Given the description of an element on the screen output the (x, y) to click on. 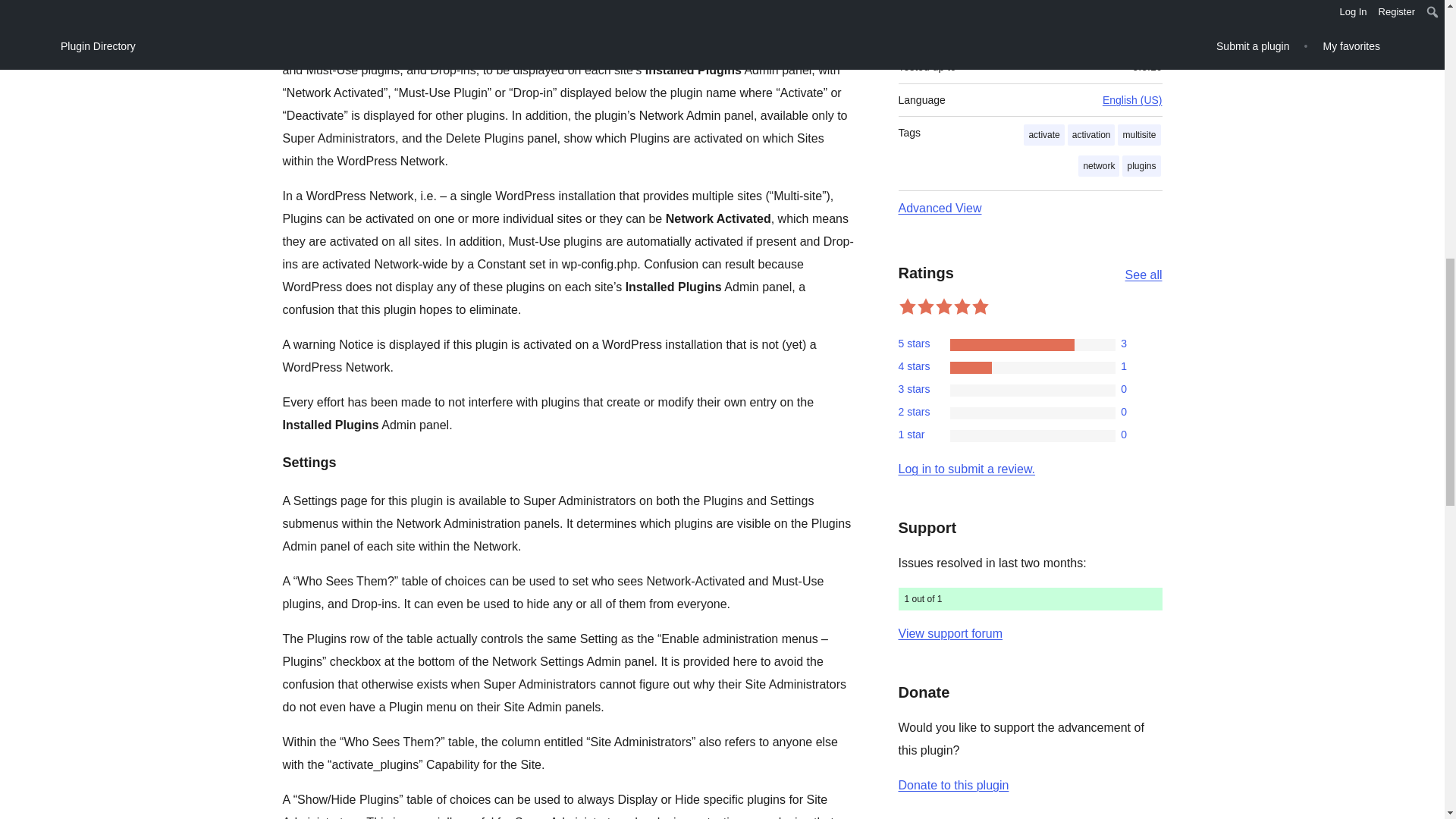
Log in to WordPress.org (966, 468)
